Given the description of an element on the screen output the (x, y) to click on. 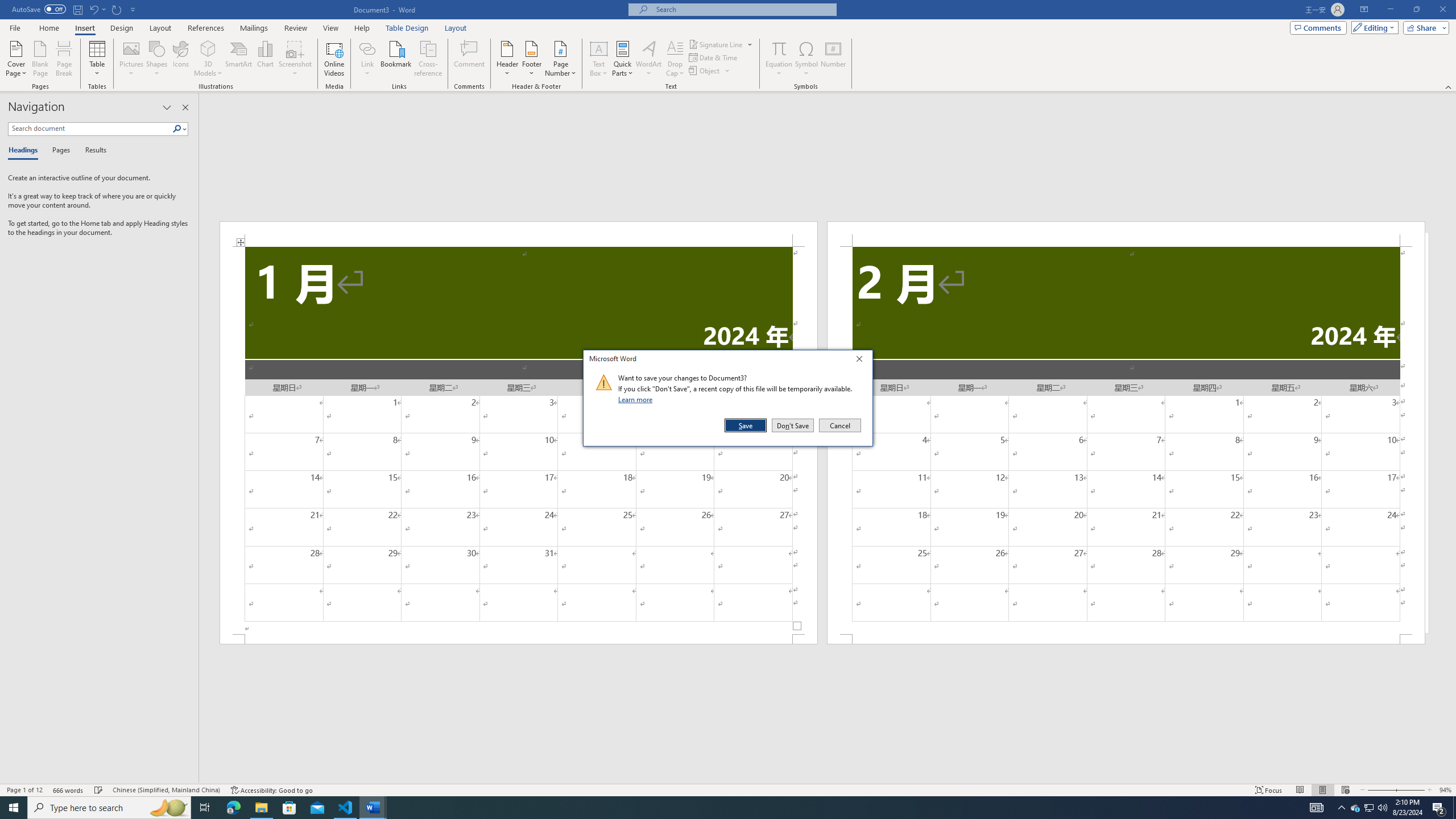
Footer (531, 58)
SmartArt... (238, 58)
WordArt (648, 58)
